Given the description of an element on the screen output the (x, y) to click on. 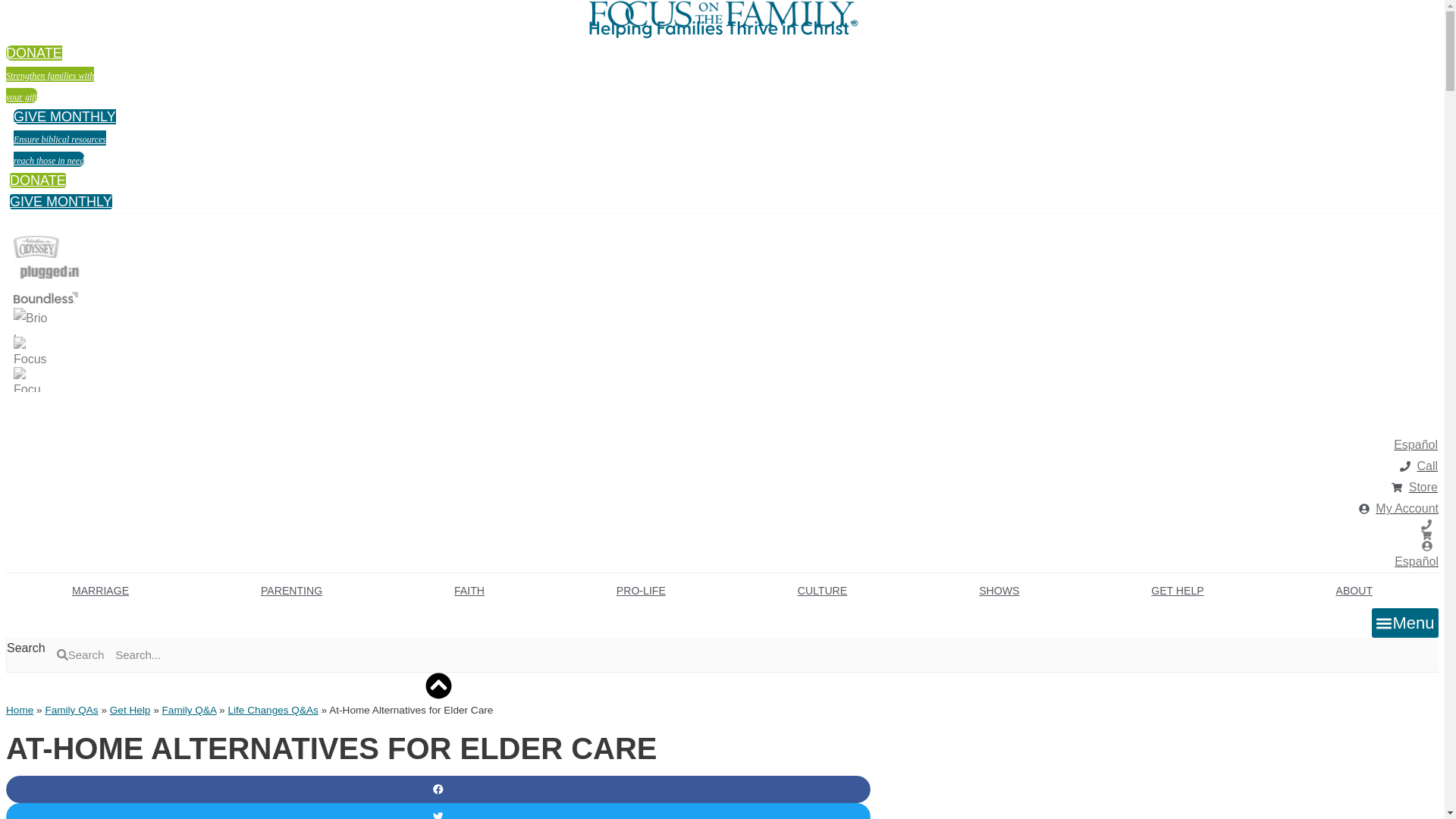
Helping Families Thrive in Christ (721, 28)
Plugged In (49, 271)
Brio (31, 321)
DONATE (37, 180)
FAITH (469, 590)
MARRIAGE (100, 590)
GIVE MONTHLY (61, 201)
Focus on the Family (49, 74)
PRO-LIFE (722, 13)
Focus on the Family Clubhouse (64, 137)
Adventures in Odyssey (641, 590)
Plugged In (31, 351)
Focus on the Family Clubhouse Jr. (36, 246)
